Given the description of an element on the screen output the (x, y) to click on. 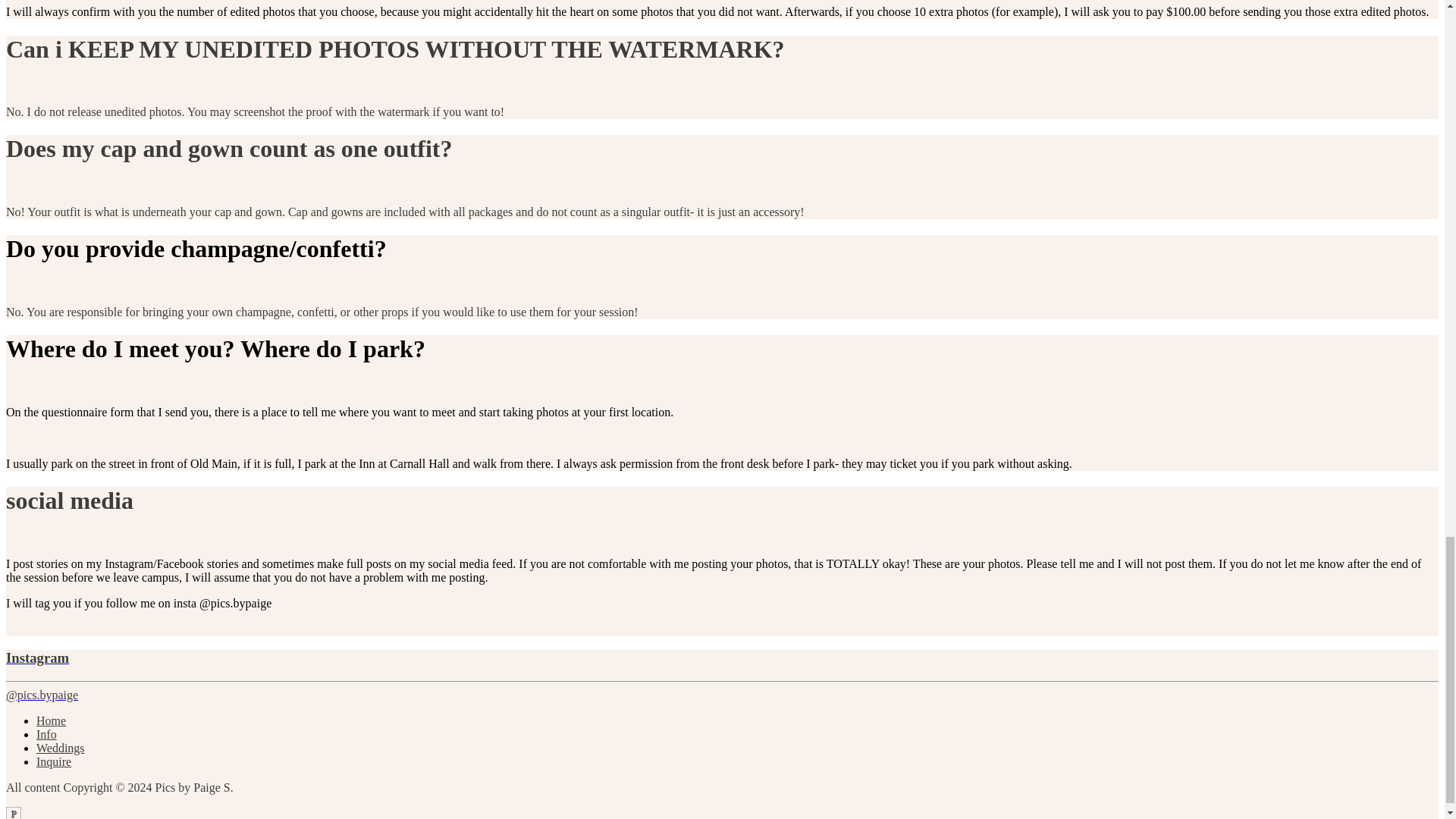
Inquire (53, 761)
Weddings (60, 748)
Home (50, 720)
Info (46, 734)
